Given the description of an element on the screen output the (x, y) to click on. 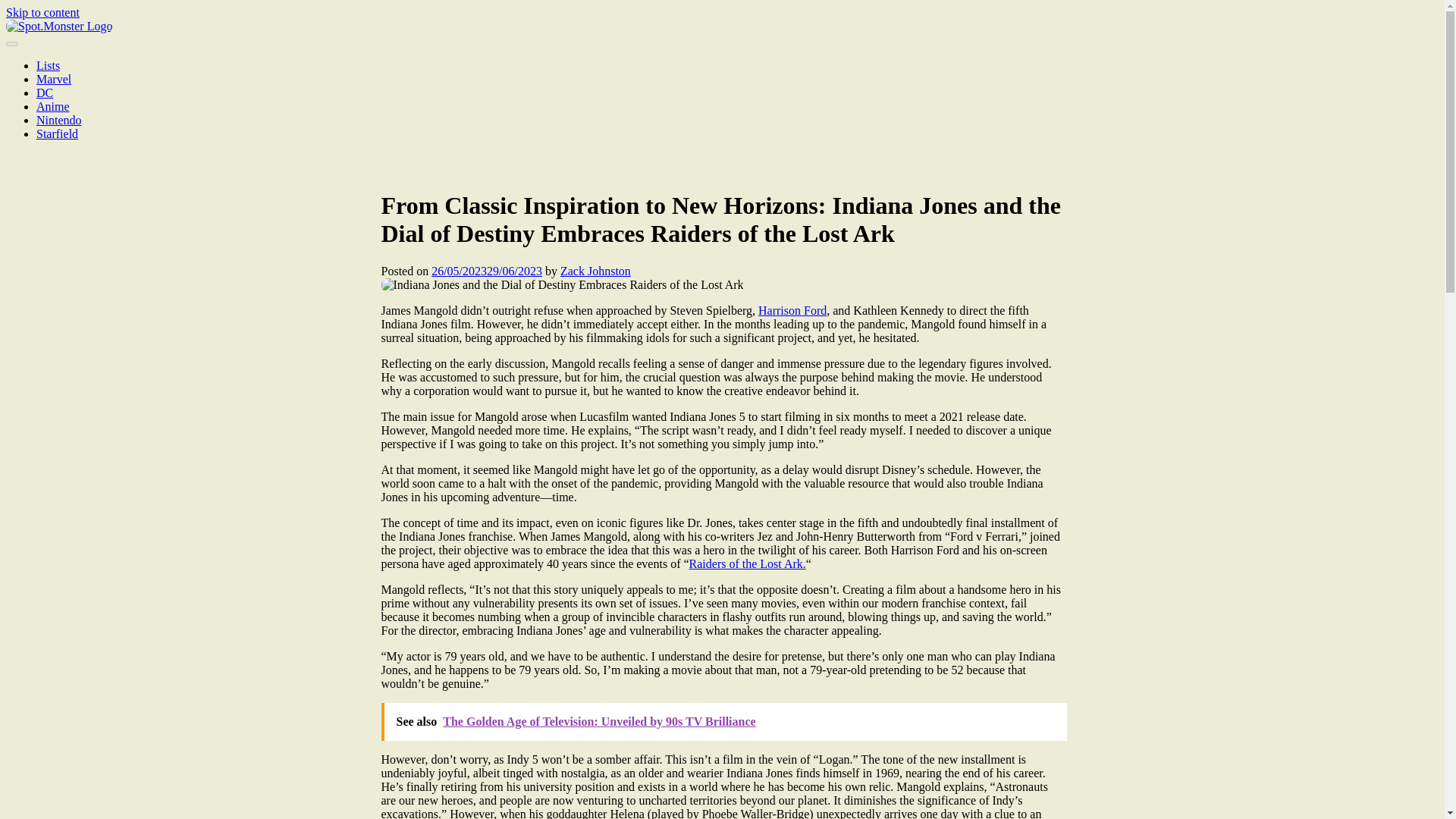
Nintendo (58, 119)
Starfield (57, 133)
Raiders of the Lost Ark. (747, 563)
Lists (47, 65)
Anime (52, 106)
Zack Johnston (595, 270)
Marvel (53, 78)
Skip to content (42, 11)
Harrison Ford (792, 309)
DC (44, 92)
